Given the description of an element on the screen output the (x, y) to click on. 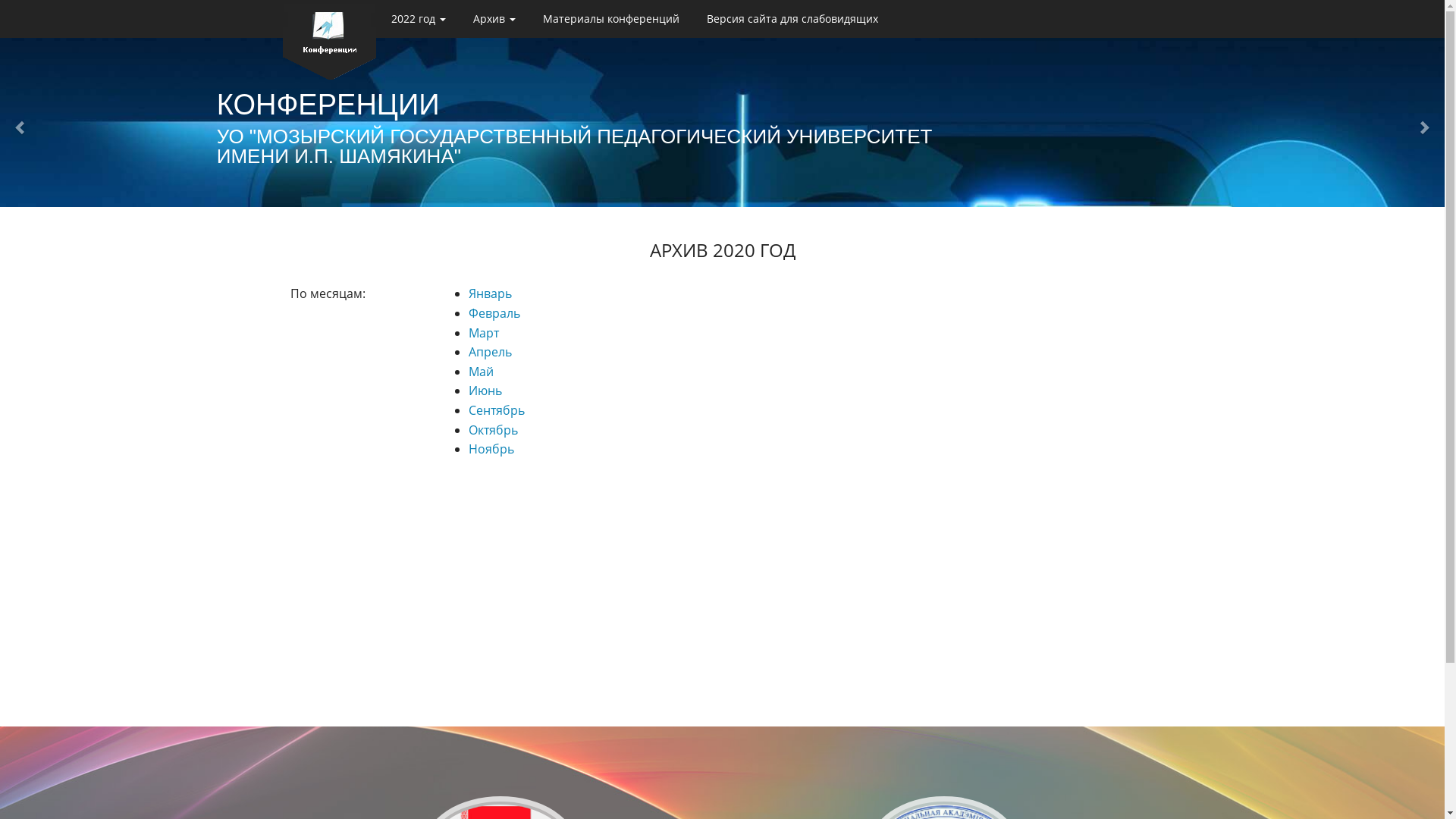
Previous Element type: text (17, 126)
Next Element type: text (1427, 126)
